Given the description of an element on the screen output the (x, y) to click on. 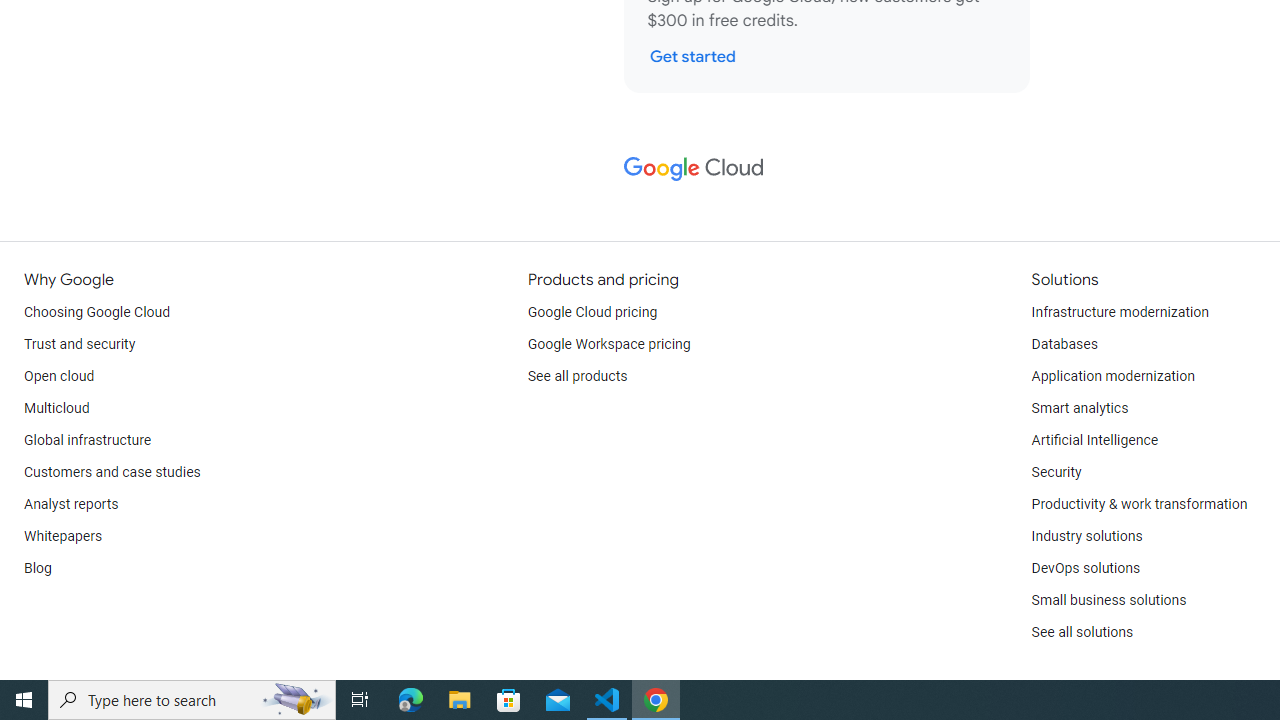
Analyst reports (71, 504)
Customers and case studies (112, 472)
Google Cloud (692, 168)
Choosing Google Cloud (97, 312)
Security (1055, 472)
Open cloud (59, 376)
Blog (38, 568)
Whitepapers (63, 536)
DevOps solutions (1085, 568)
Get started (692, 56)
See all solutions (1082, 632)
